Given the description of an element on the screen output the (x, y) to click on. 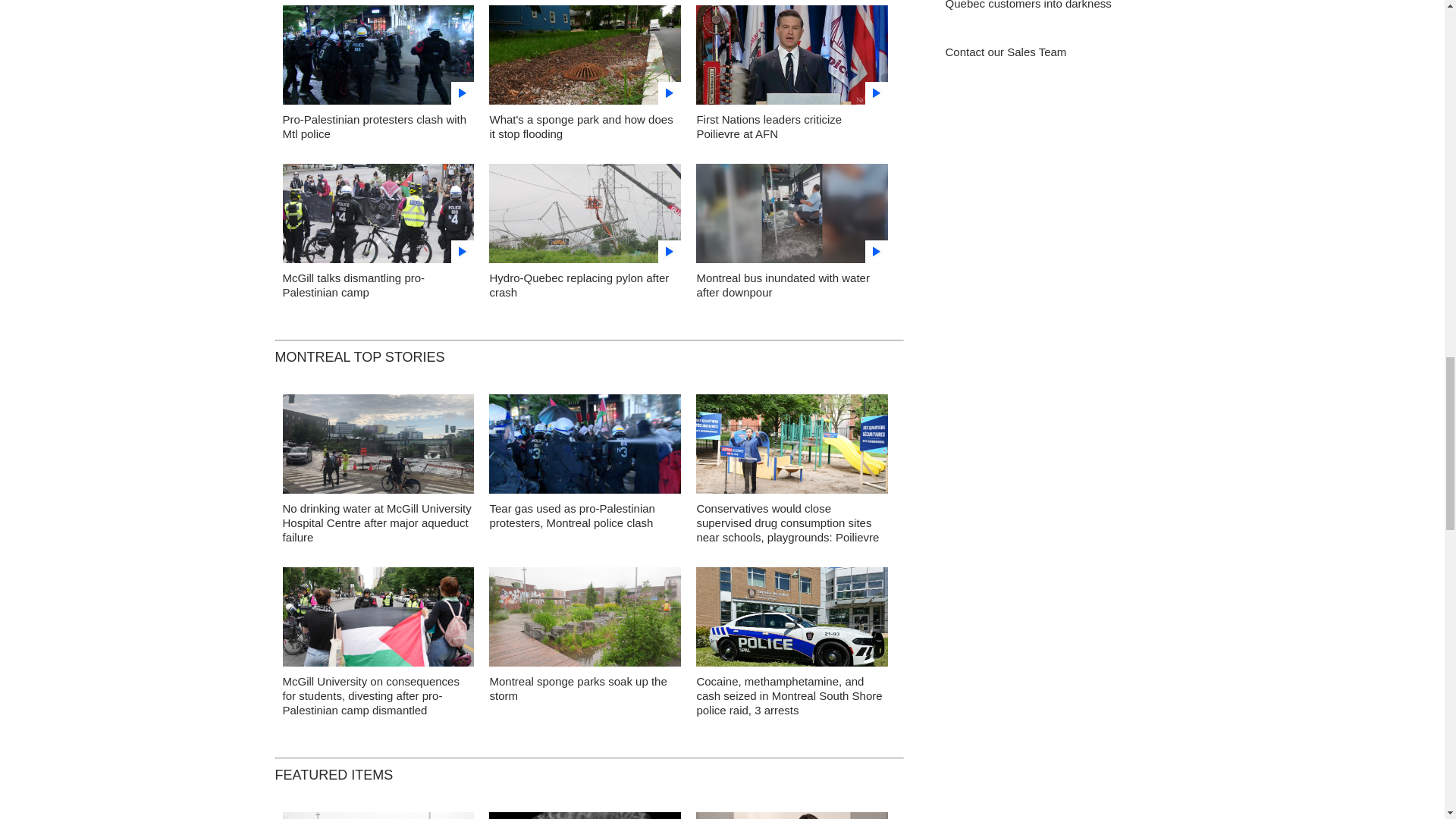
false (378, 54)
false (585, 212)
Hydro-Quebec (585, 217)
Poilievre (791, 58)
McGill  (378, 217)
Pro-Palestinian protesters clash with Mtl police (373, 126)
Do sponge parks in Montreal actually work?   (585, 58)
Hydro-Quebec replacing pylon after crash (578, 284)
Montreal bus inundated with water after downpour (782, 284)
Tear gas sprayed at protesters (378, 58)
First Nations leaders criticize Poilievre at AFN (768, 126)
false (791, 212)
McGill talks dismantling pro-Palestinian camp (353, 284)
What's a sponge park and how does it stop flooding (580, 126)
